Given the description of an element on the screen output the (x, y) to click on. 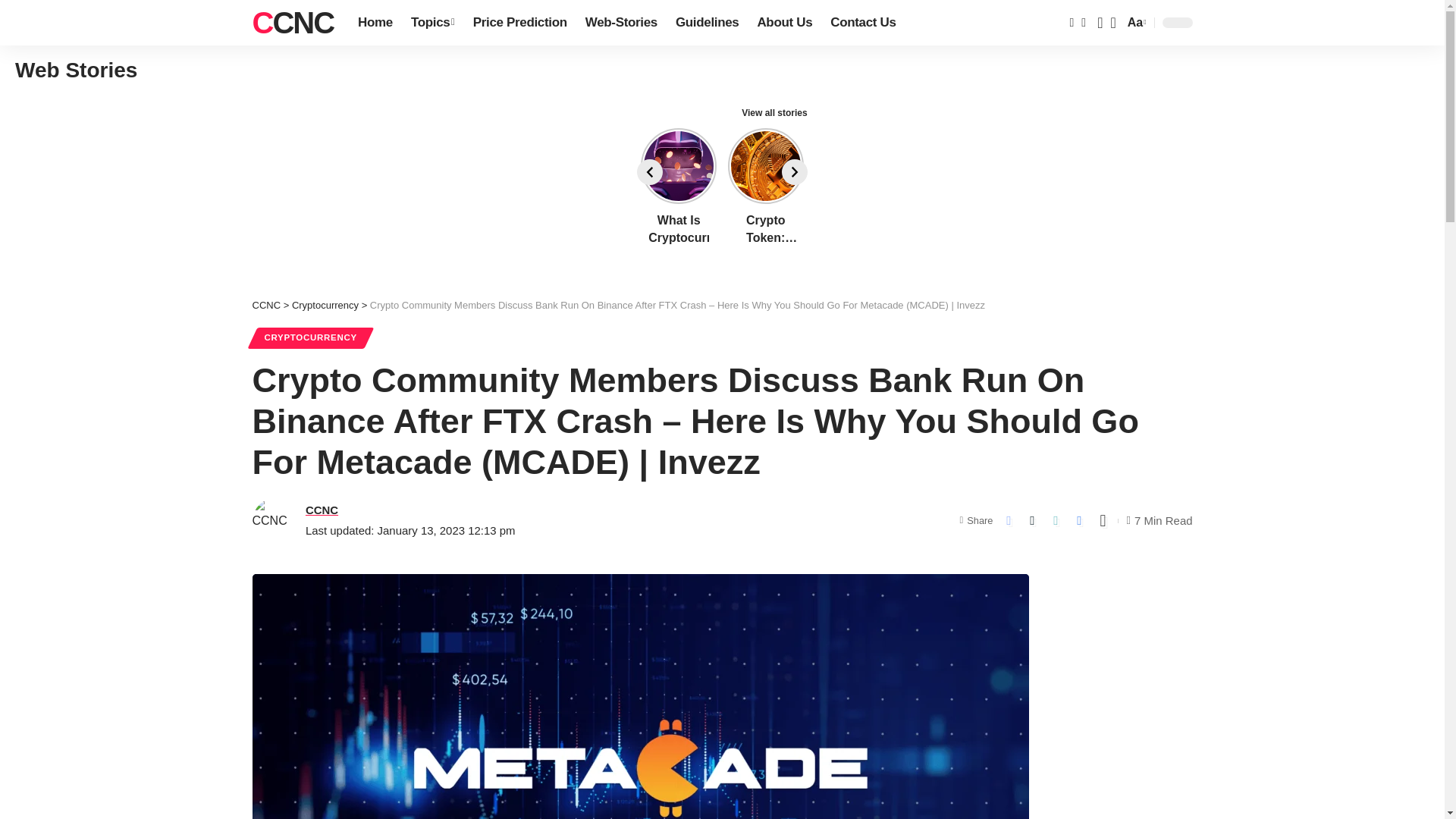
CCNC (292, 22)
Contact Us (862, 22)
Home (1135, 22)
Go to the Cryptocurrency Category archives. (375, 22)
Go to CCNC. (325, 305)
Topics (266, 305)
CCNC (432, 22)
About Us (292, 22)
Web-Stories (784, 22)
